Given the description of an element on the screen output the (x, y) to click on. 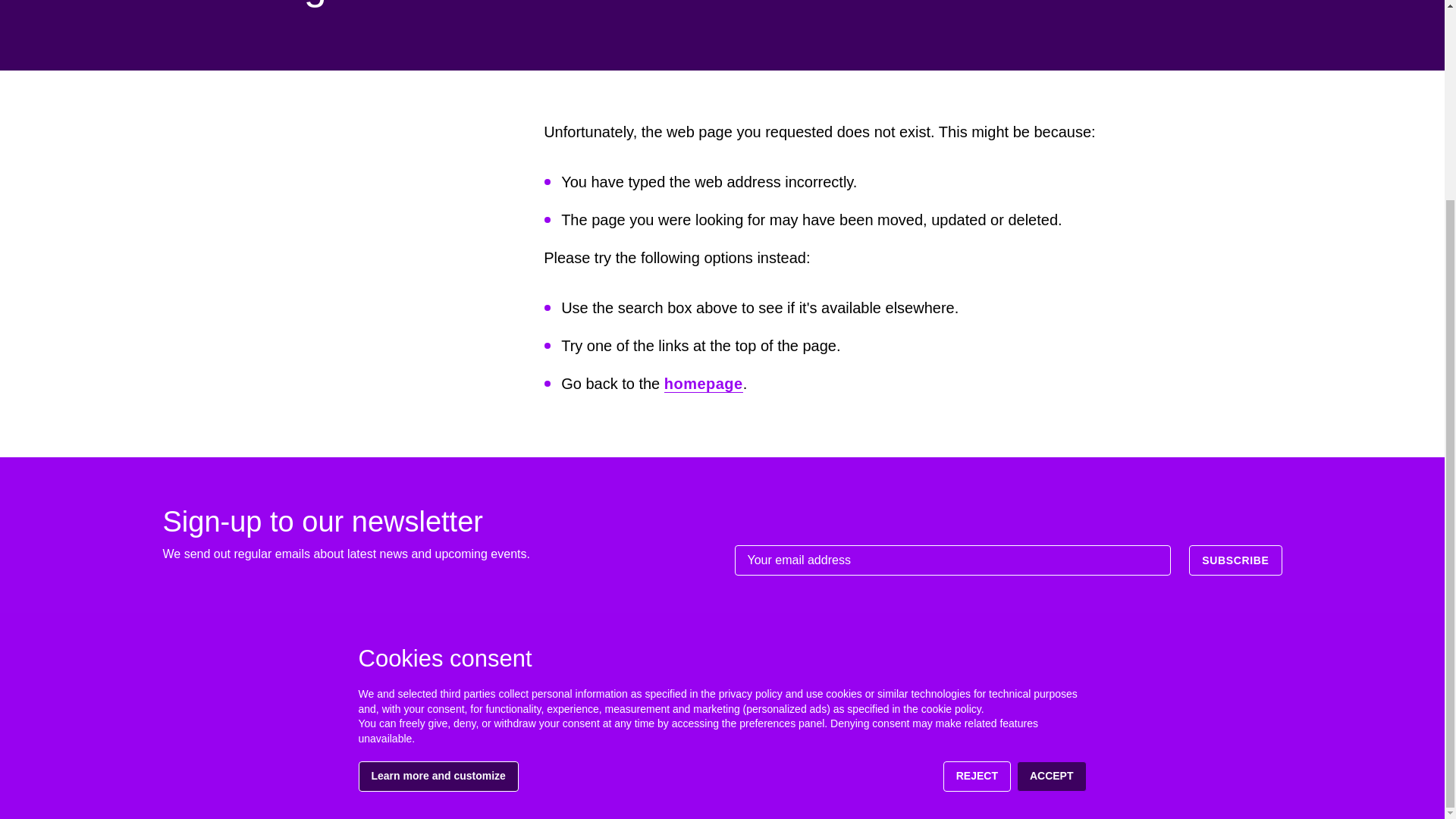
Cookie Policy  (1243, 710)
YouTube (1208, 770)
LinkedIn (1178, 770)
Facebook (1238, 770)
Instagram (1269, 770)
Privacy Policy  (1154, 710)
homepage (702, 384)
SUBSCRIBE (1235, 560)
Twitter (1147, 770)
Go to homepage (230, 687)
